Given the description of an element on the screen output the (x, y) to click on. 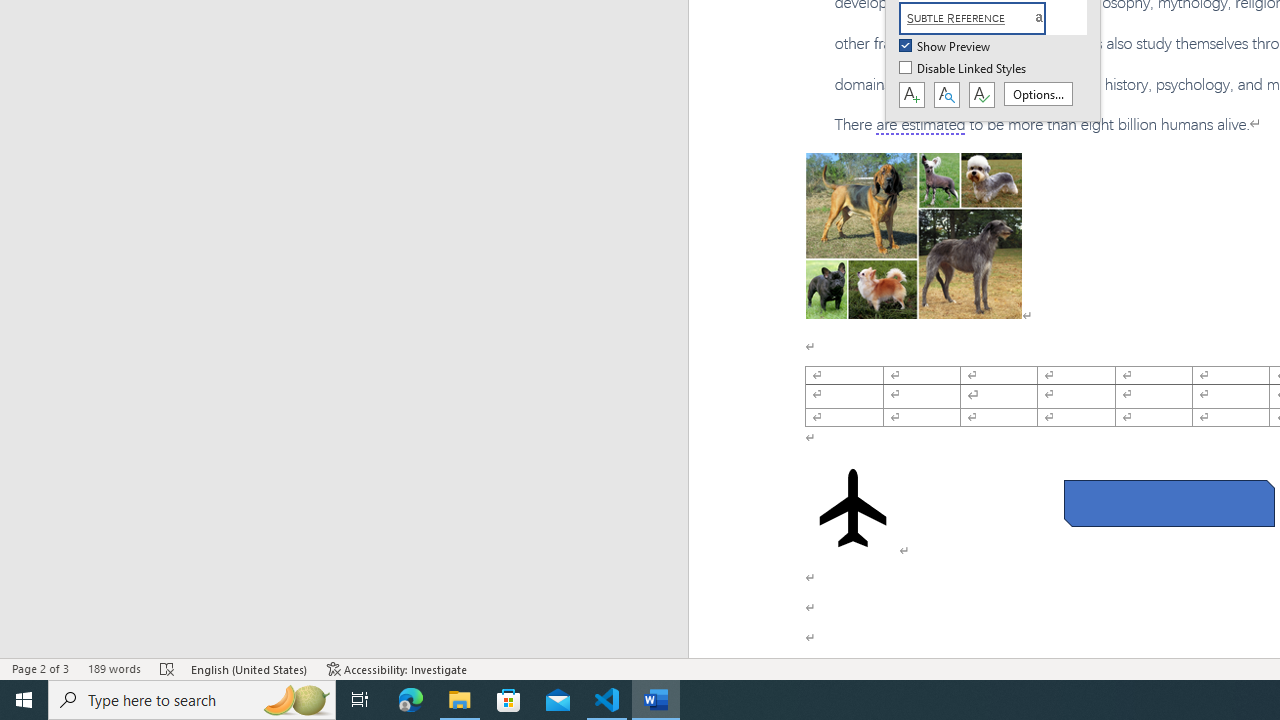
Disable Linked Styles (964, 69)
Show Preview (946, 47)
Rectangle: Diagonal Corners Snipped 2 (1168, 503)
Options... (1037, 93)
Page Number Page 2 of 3 (39, 668)
Class: NetUIButton (981, 95)
Subtle Reference (984, 18)
Airplane with solid fill (852, 507)
